Given the description of an element on the screen output the (x, y) to click on. 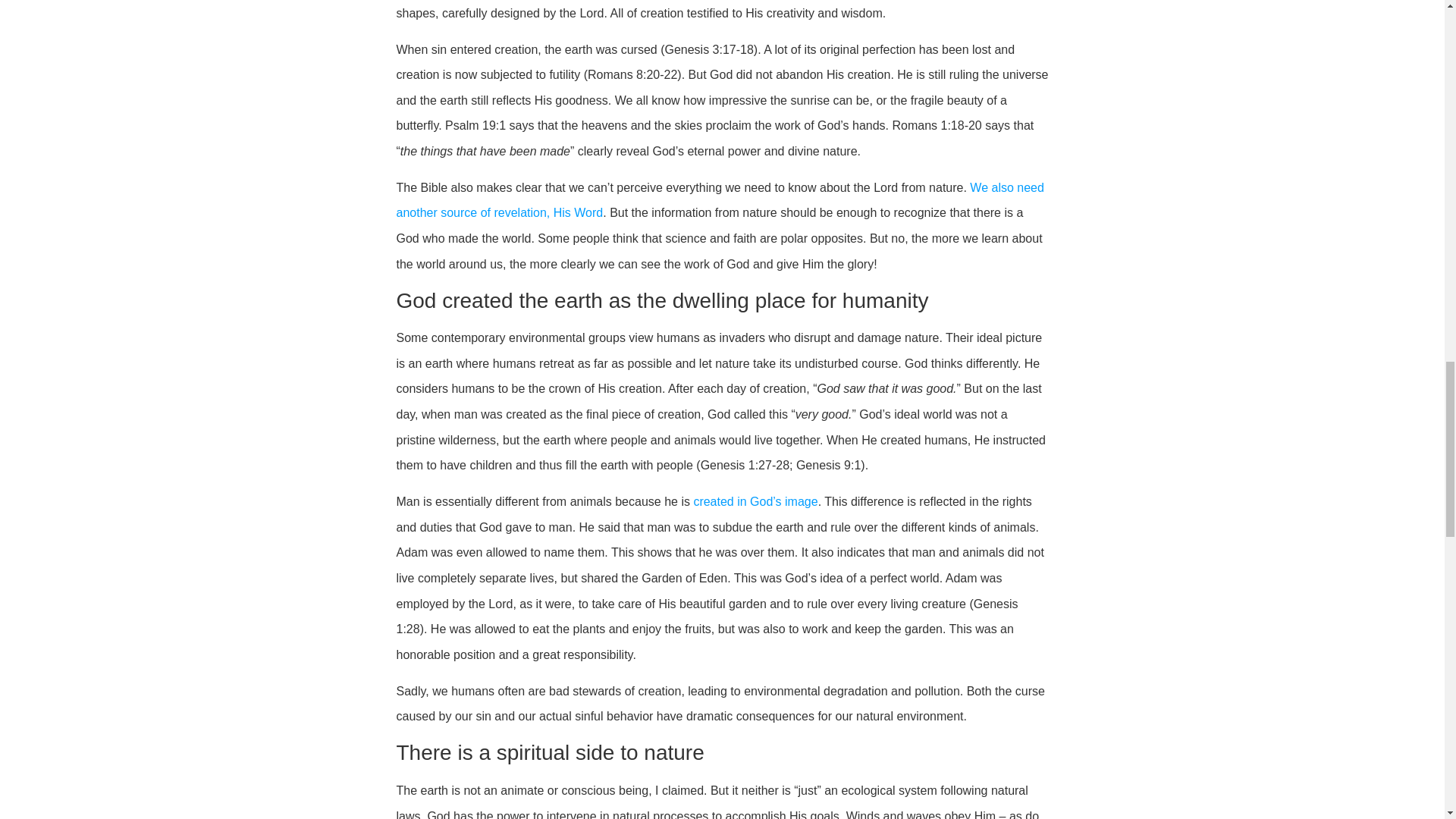
We also need another source of revelation, His Word (719, 200)
